Given the description of an element on the screen output the (x, y) to click on. 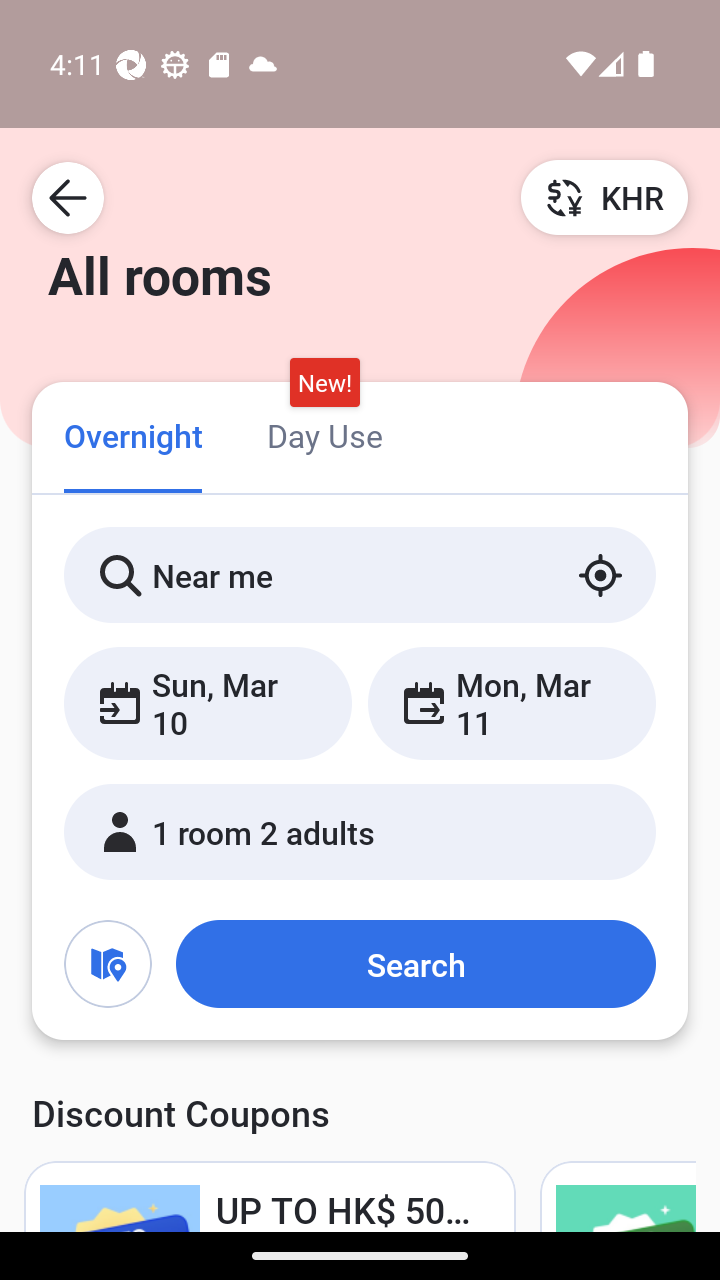
KHR (604, 197)
New! (324, 383)
Day Use (324, 434)
Near me (359, 575)
Sun, Mar 10 (208, 703)
Mon, Mar 11 (511, 703)
1 room 2 adults (359, 831)
Search (415, 964)
